Given the description of an element on the screen output the (x, y) to click on. 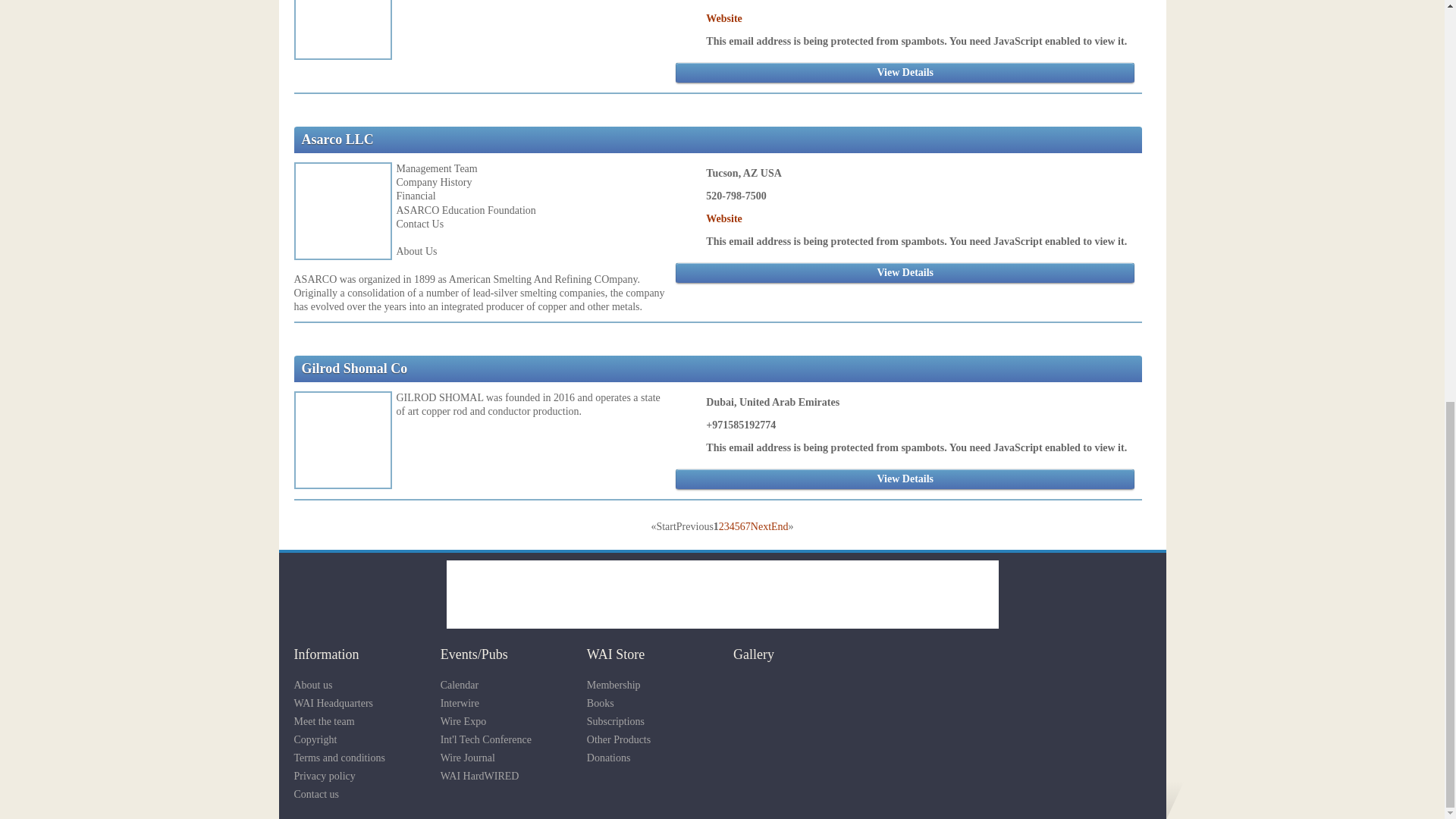
Platinum Member (422, 369)
Thermoplastic Engineering Corporation  (721, 594)
